Given the description of an element on the screen output the (x, y) to click on. 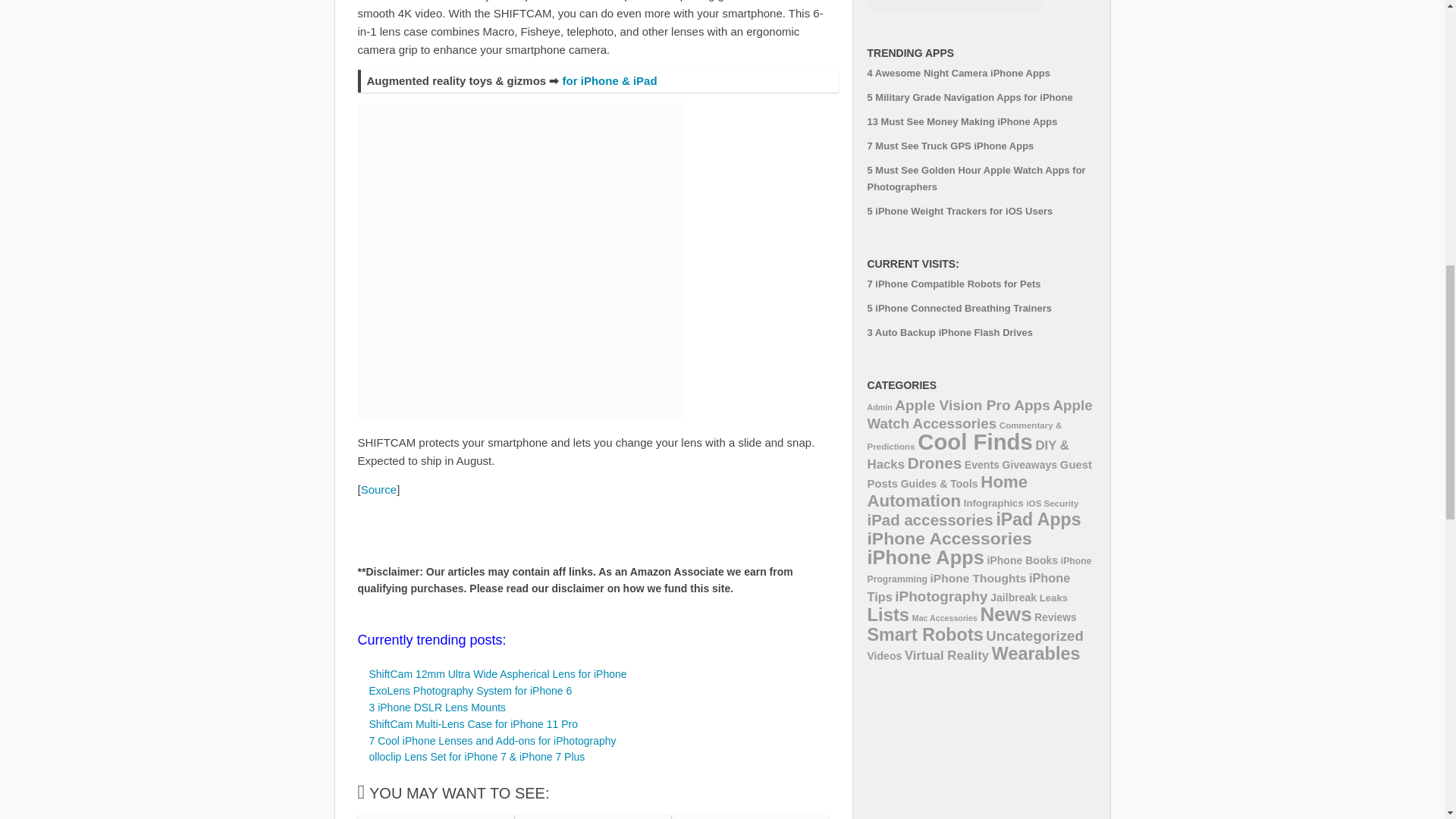
ShiftCam Multi-Lens Case for iPhone 11 Pro (472, 724)
3 iPhone DSLR Lens Mounts (436, 707)
ShiftCam 12mm Ultra Wide Aspherical Lens for iPhone (497, 674)
ExoLens Photography System for iPhone 6 (470, 690)
